Given the description of an element on the screen output the (x, y) to click on. 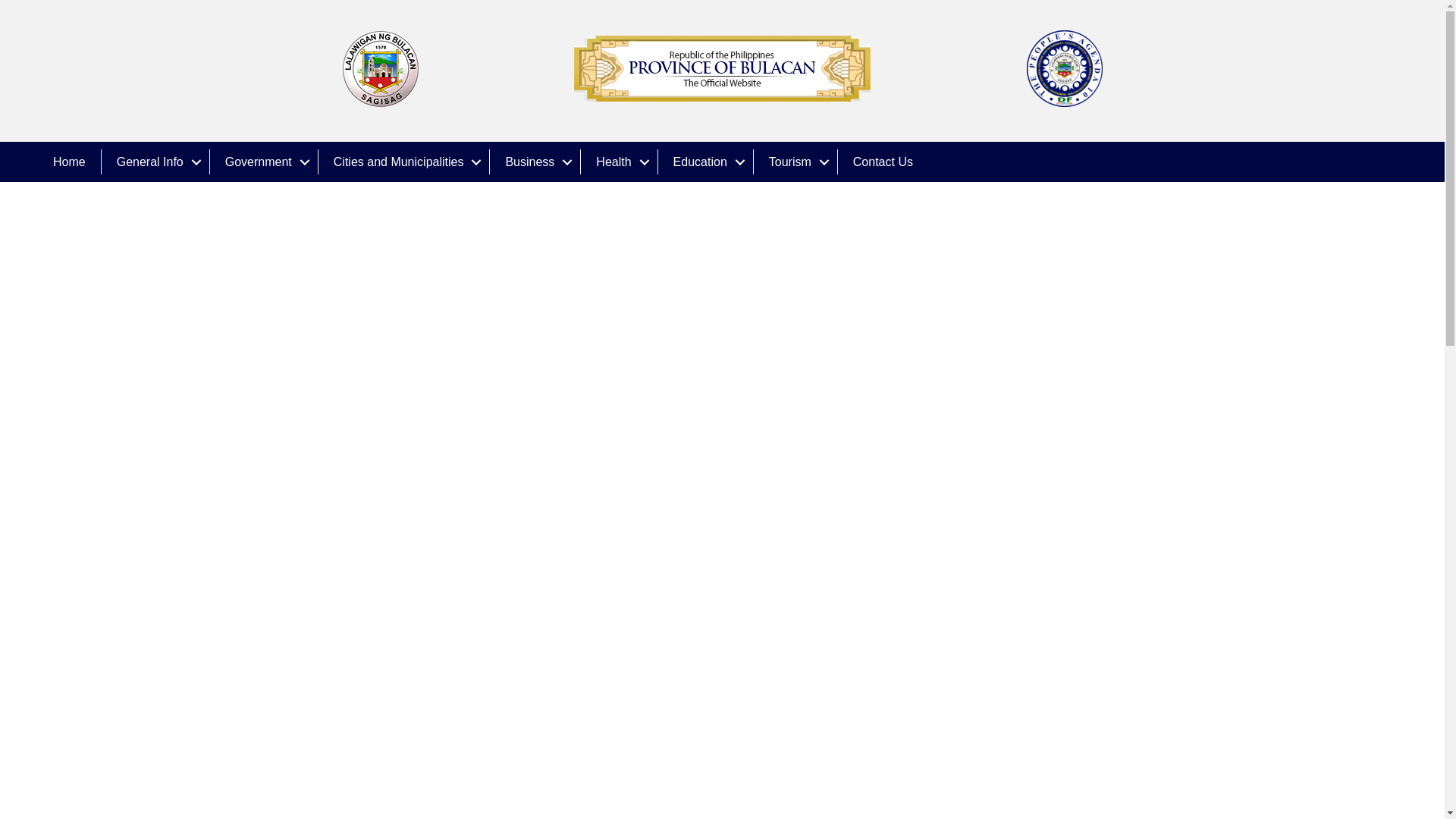
FRAME (721, 68)
peoples-agenda (1064, 68)
General Info (155, 161)
Home (68, 161)
Official-Logo (380, 68)
Cities and Municipalities (403, 161)
Government (263, 161)
